Given the description of an element on the screen output the (x, y) to click on. 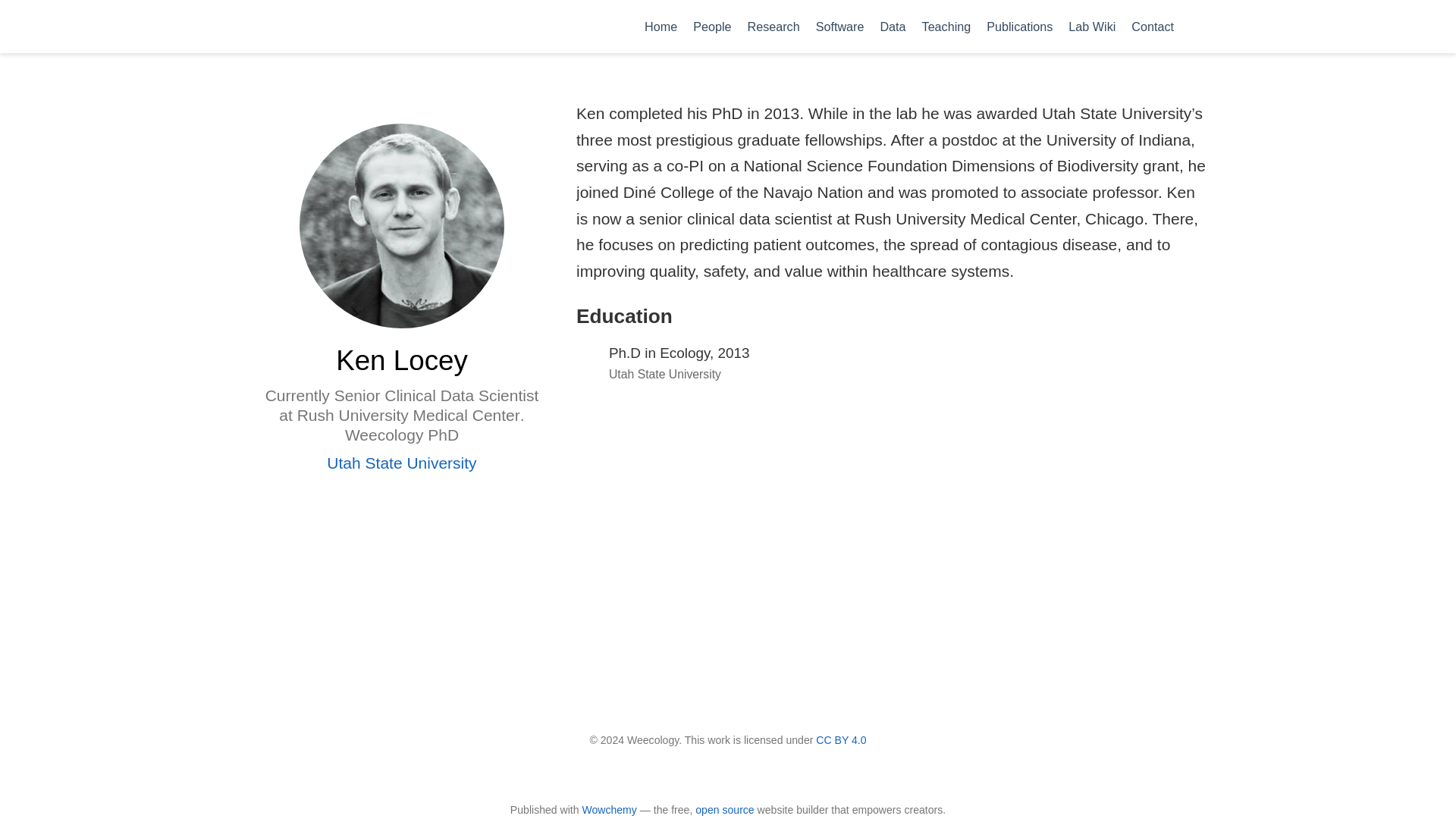
People (712, 25)
Publications (1019, 25)
Contact (1153, 25)
Data (893, 25)
Lab Wiki (1092, 25)
Software (840, 25)
Teaching (946, 25)
CC BY 4.0 (840, 739)
Utah State University (401, 462)
Research (773, 25)
